Given the description of an element on the screen output the (x, y) to click on. 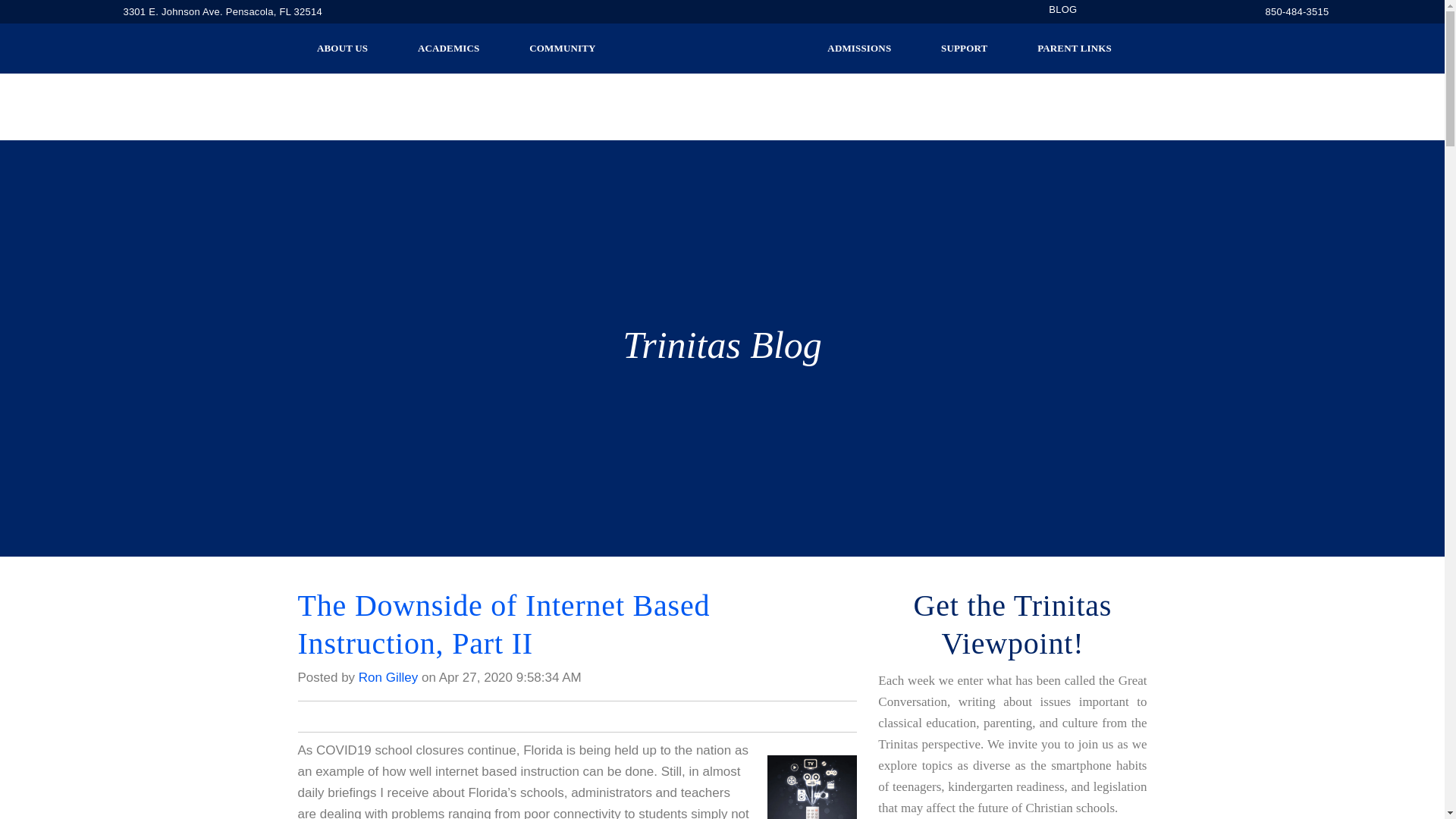
ADMISSIONS (859, 49)
Ron Gilley (387, 677)
BLOG (1062, 9)
3301 E. Johnson Ave. Pensacola, FL 32514 (218, 11)
The Downside of Internet Based Instruction, Part II (503, 624)
ACADEMICS (449, 49)
SUPPORT (964, 49)
COMMUNITY (562, 49)
PARENT LINKS (1074, 49)
850-484-3515 (1296, 11)
